Given the description of an element on the screen output the (x, y) to click on. 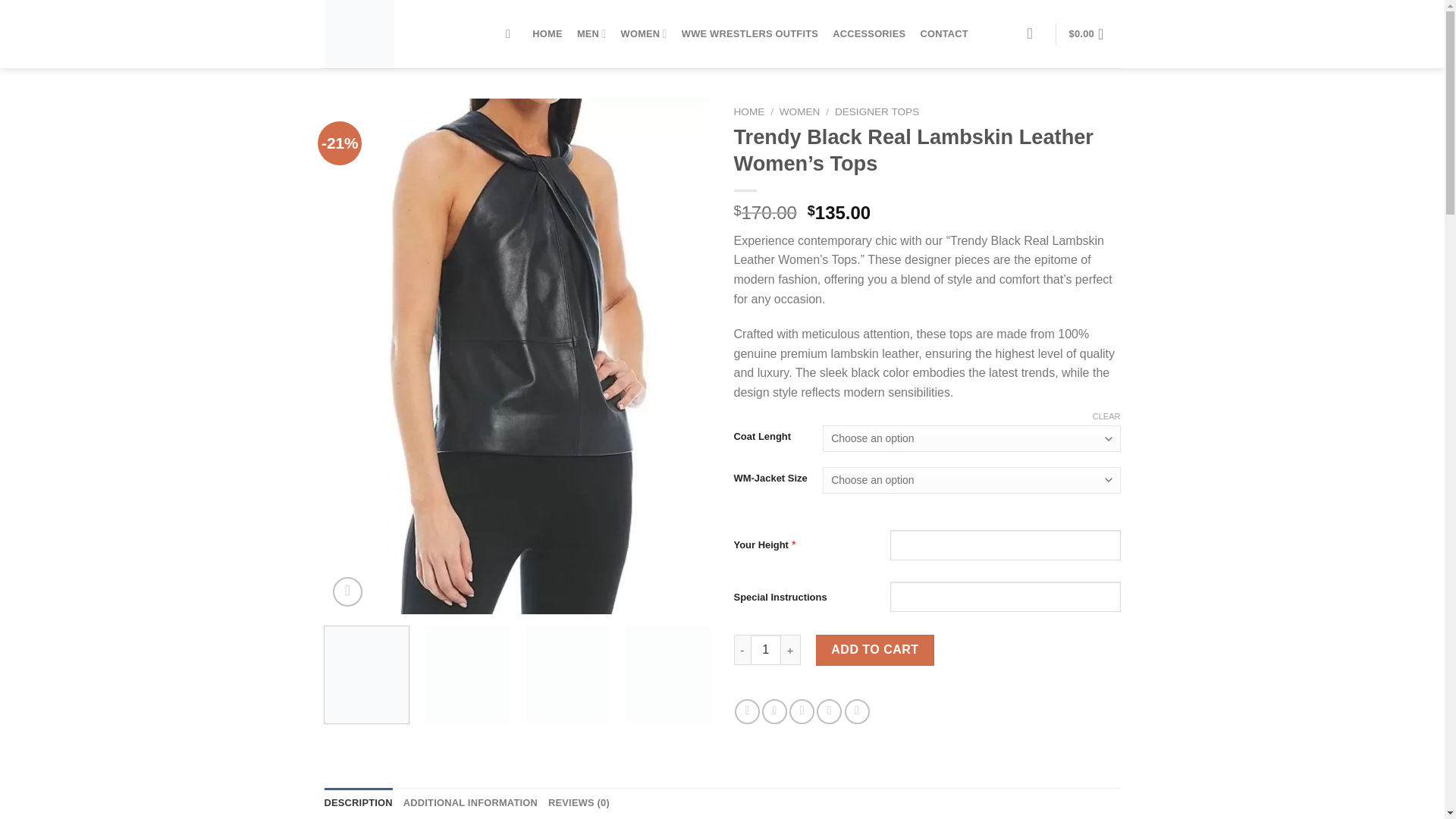
HOME (749, 111)
WOMEN (643, 33)
Zoom (347, 591)
WWE WRESTLERS OUTFITS (749, 33)
ACCESSORIES (868, 33)
Pin on Pinterest (828, 711)
Share on LinkedIn (856, 711)
MEN (590, 33)
WOMEN (799, 111)
CLEAR (1107, 416)
